Given the description of an element on the screen output the (x, y) to click on. 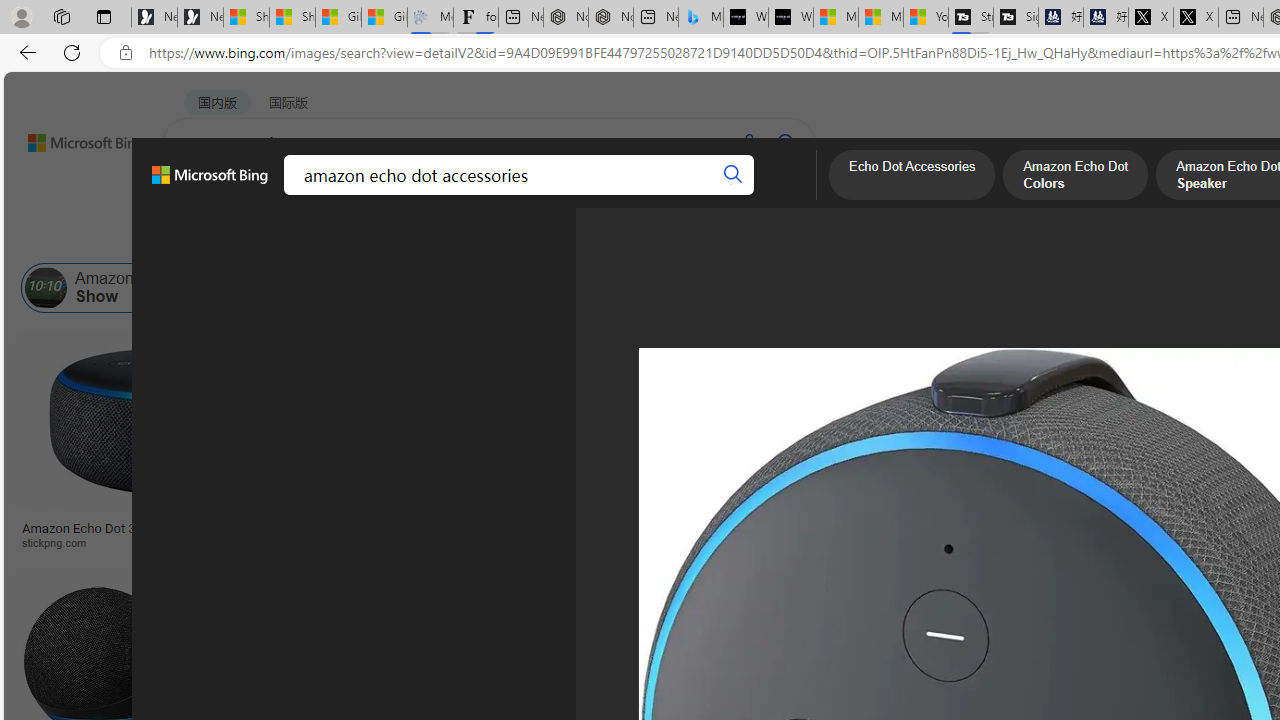
Search button (732, 174)
FrAndroid (800, 542)
With Clock (995, 460)
